Given the description of an element on the screen output the (x, y) to click on. 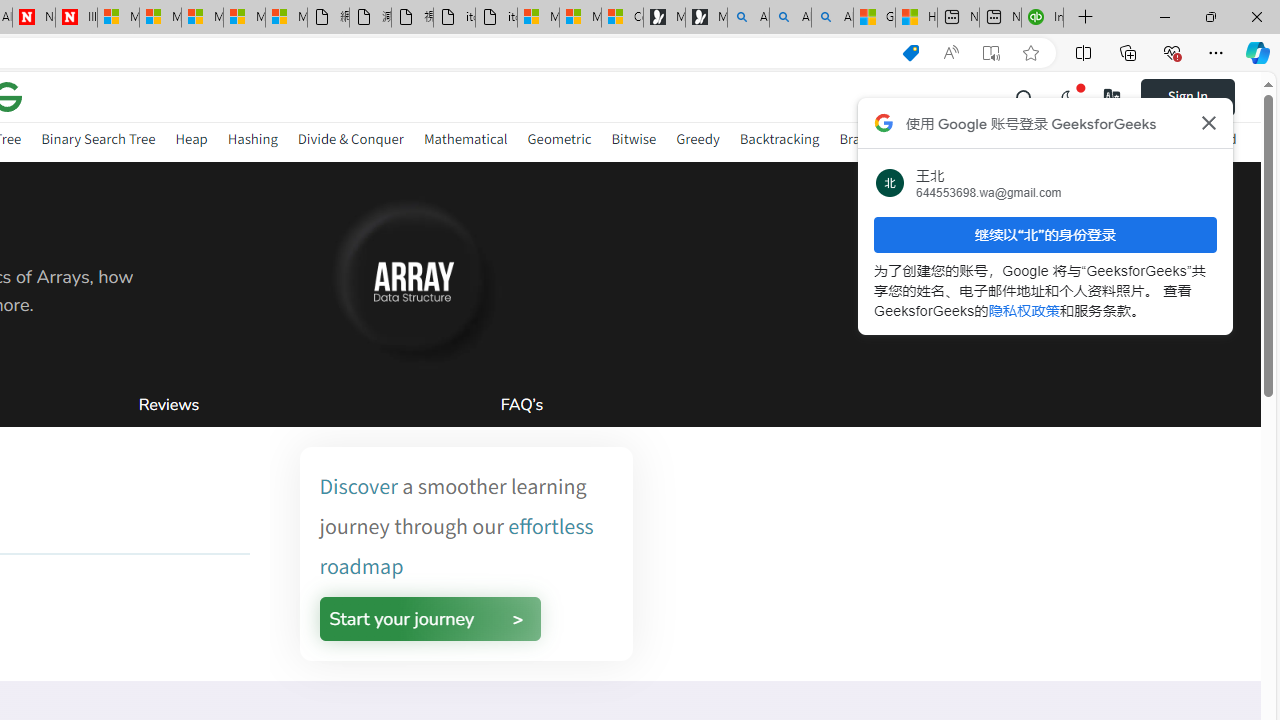
Randomized (1197, 138)
Branch and Bound (895, 138)
Sign In (1200, 96)
search (1025, 96)
Bitwise (633, 138)
Alabama high school quarterback dies - Search Videos (831, 17)
